Given the description of an element on the screen output the (x, y) to click on. 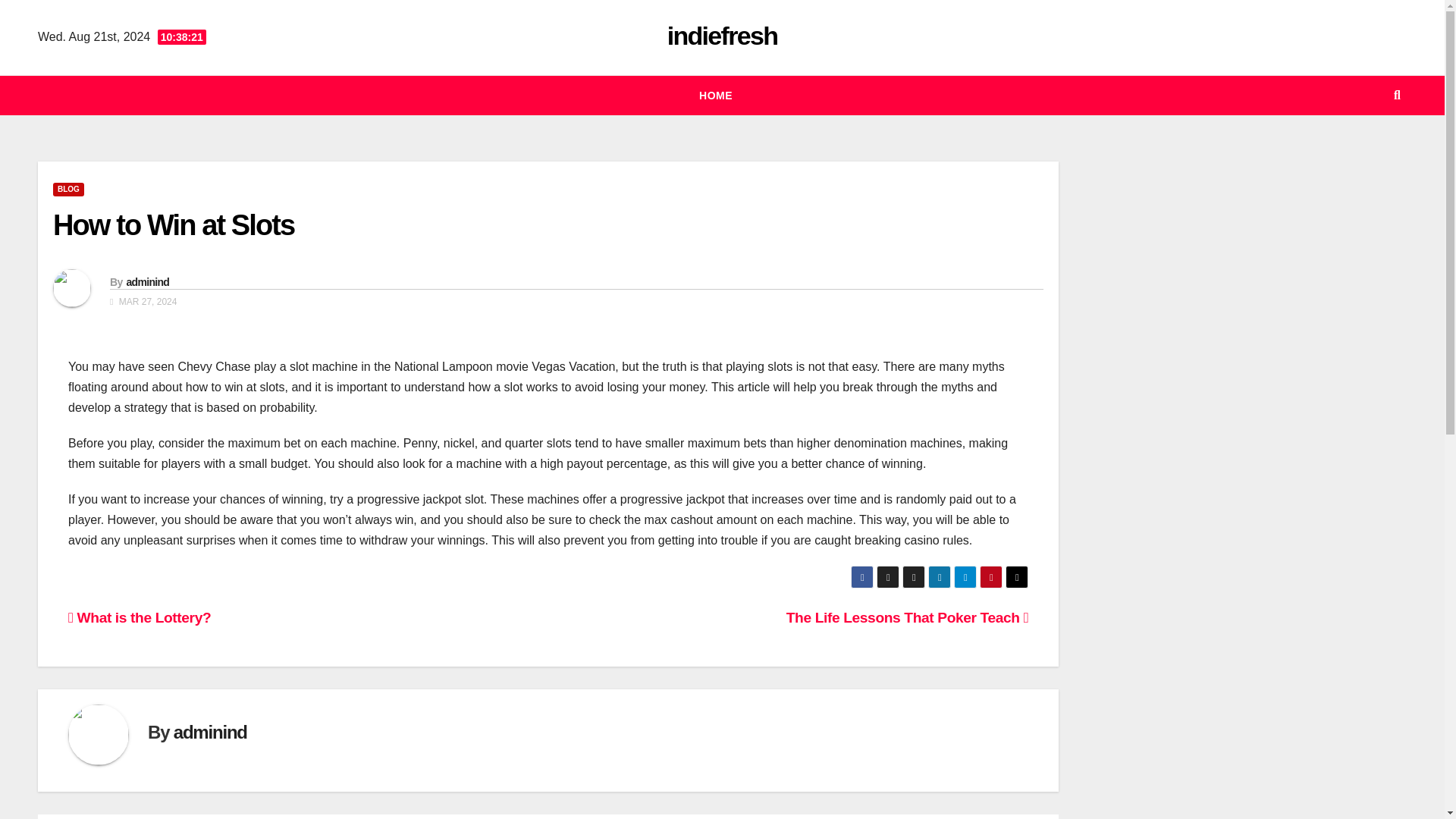
Home (715, 95)
The Life Lessons That Poker Teach (906, 617)
HOME (715, 95)
Permalink to: How to Win at Slots (173, 224)
adminind (210, 731)
BLOG (68, 189)
How to Win at Slots (173, 224)
What is the Lottery? (139, 617)
indiefresh (721, 35)
adminind (146, 282)
